Given the description of an element on the screen output the (x, y) to click on. 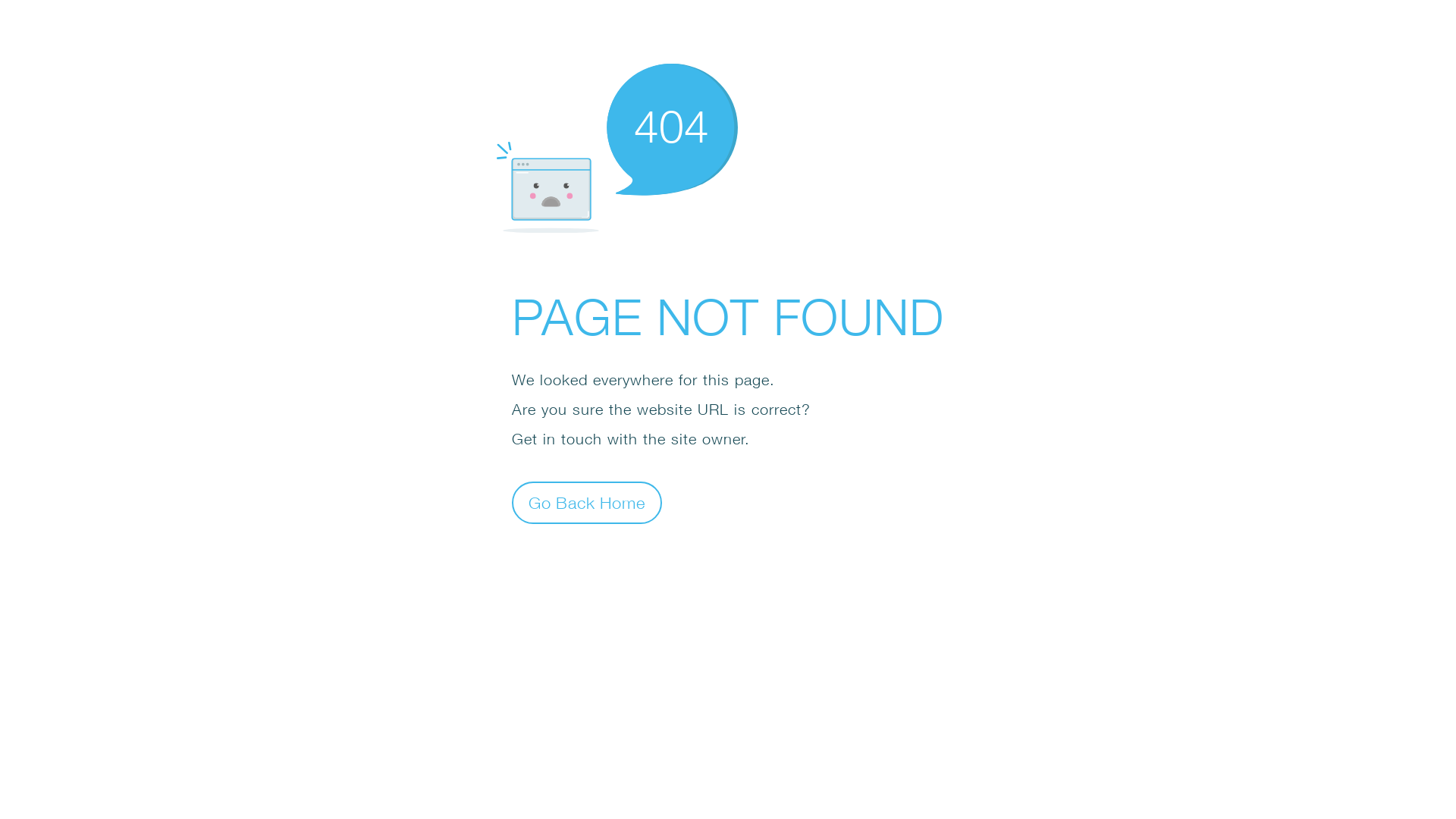
Go Back Home Element type: text (586, 502)
